Given the description of an element on the screen output the (x, y) to click on. 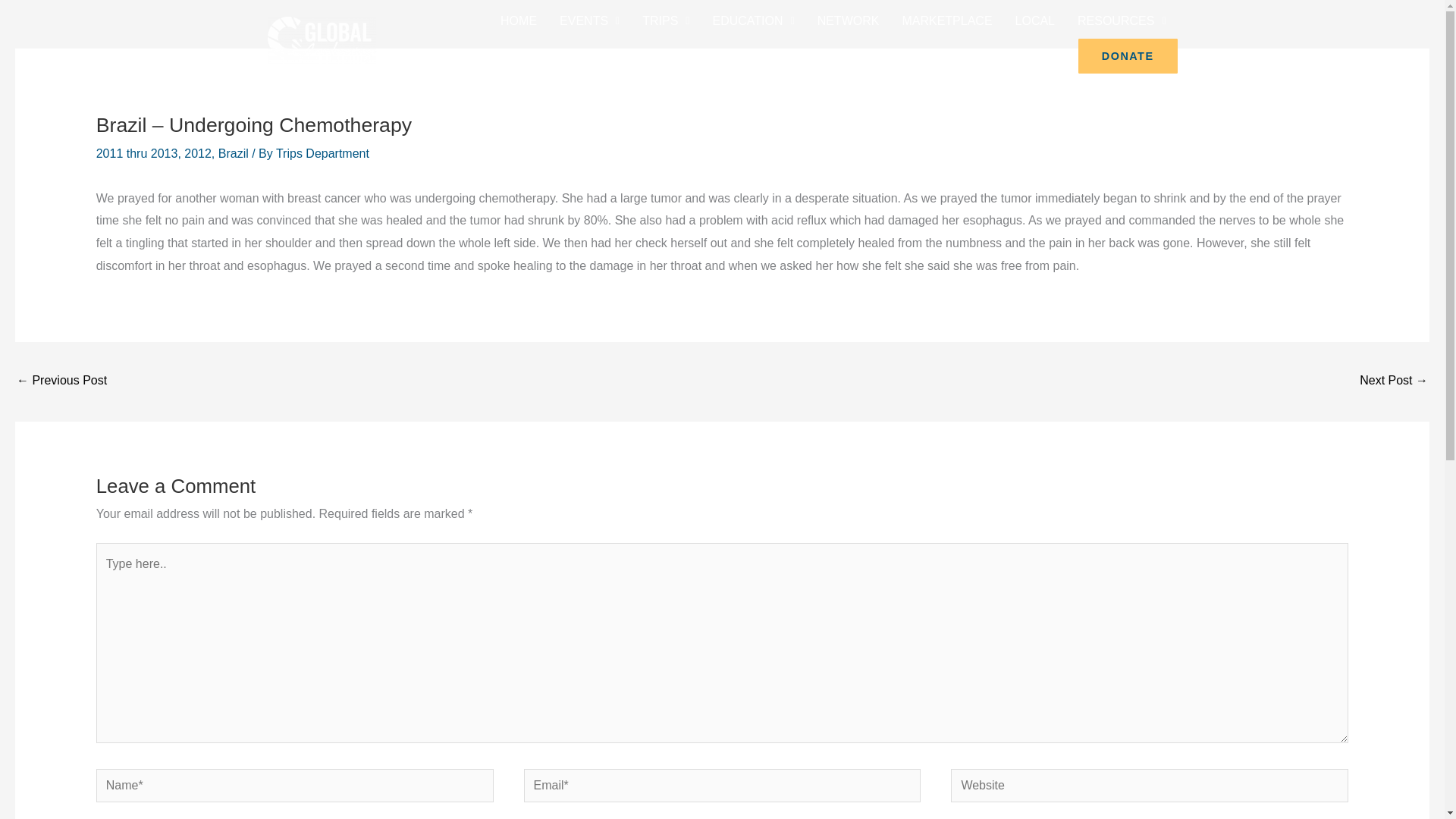
EVENTS (589, 21)
NETWORK (848, 21)
HOME (518, 21)
EDUCATION (752, 21)
TRIPS (665, 21)
MARKETPLACE (946, 21)
View all posts by Trips Department (322, 153)
ABOUT (1040, 55)
Brazil - Young Woman Ear Healed (61, 381)
DONATE (1127, 55)
Singapore - Dead Molar Tooth (1393, 381)
LOCAL (1034, 21)
RESOURCES (1120, 21)
